Given the description of an element on the screen output the (x, y) to click on. 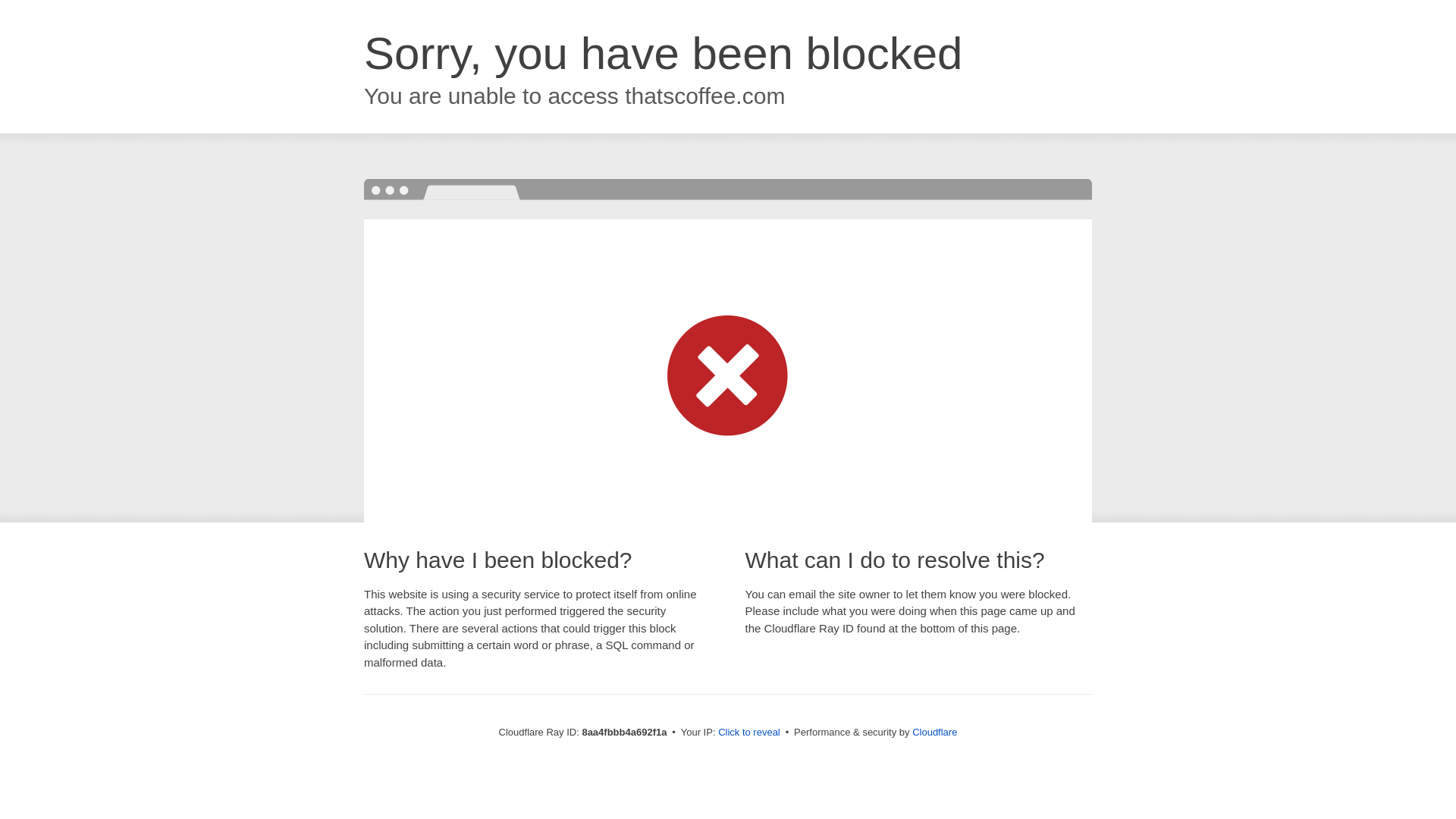
Click to reveal (748, 732)
Cloudflare (934, 731)
